Given the description of an element on the screen output the (x, y) to click on. 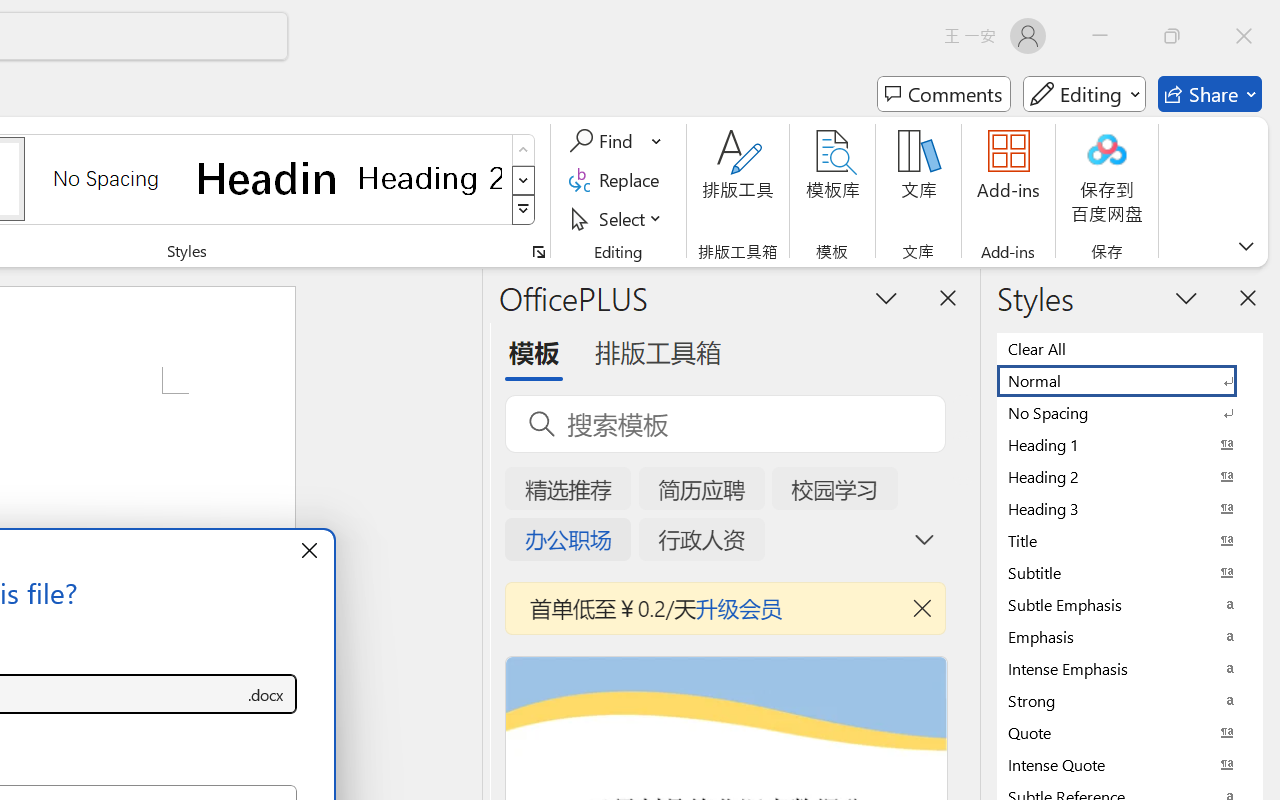
Intense Quote (1130, 764)
Class: NetUIImage (523, 210)
Emphasis (1130, 636)
Row up (523, 150)
Task Pane Options (886, 297)
Strong (1130, 700)
Find (604, 141)
Share (1210, 94)
Heading 1 (267, 178)
Normal (1130, 380)
